Given the description of an element on the screen output the (x, y) to click on. 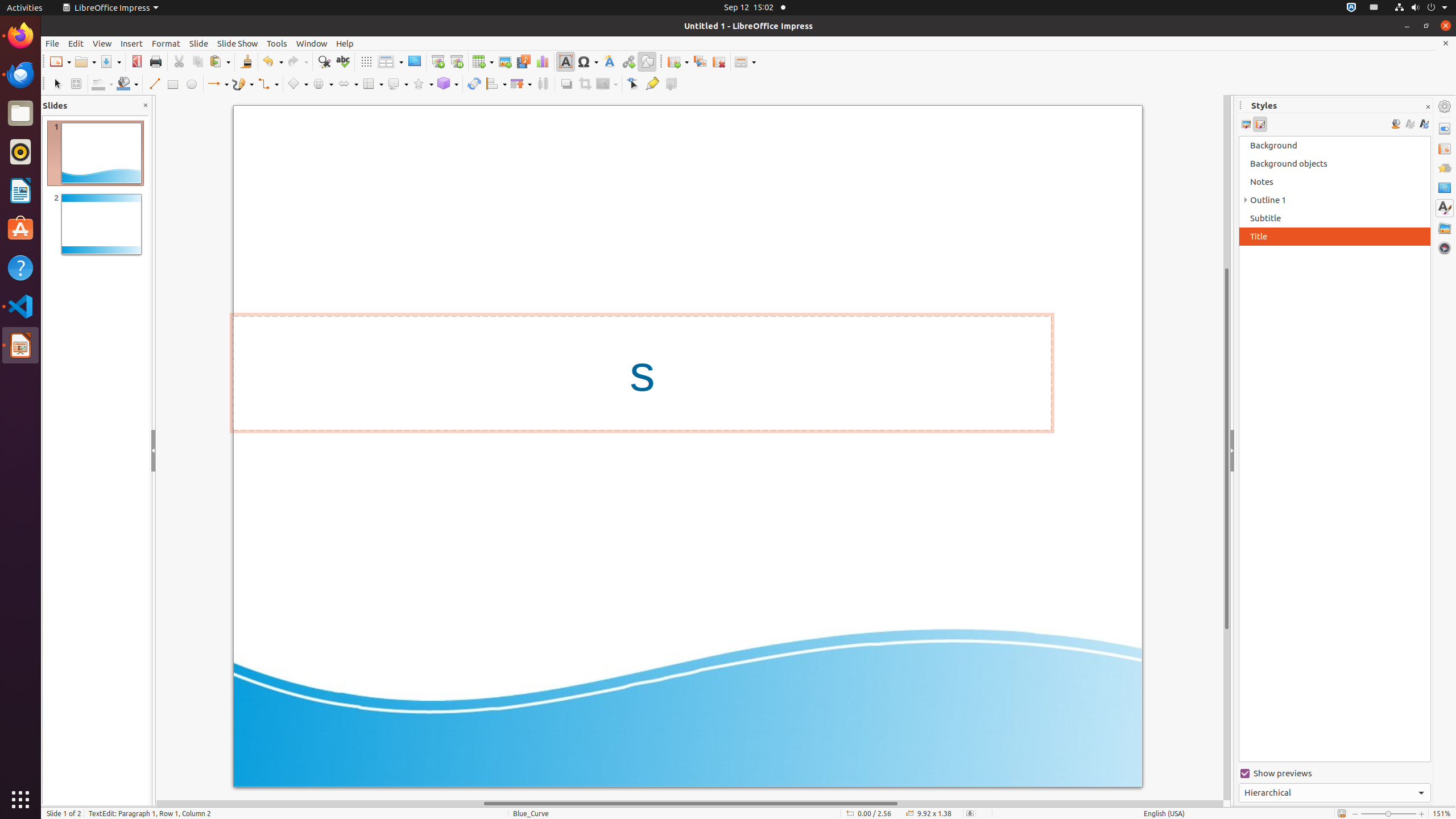
LibreOffice Impress Element type: push-button (20, 344)
System Element type: menu (1420, 7)
Spelling Element type: push-button (342, 61)
Ellipse Element type: push-button (191, 83)
Align Element type: push-button (495, 83)
